Given the description of an element on the screen output the (x, y) to click on. 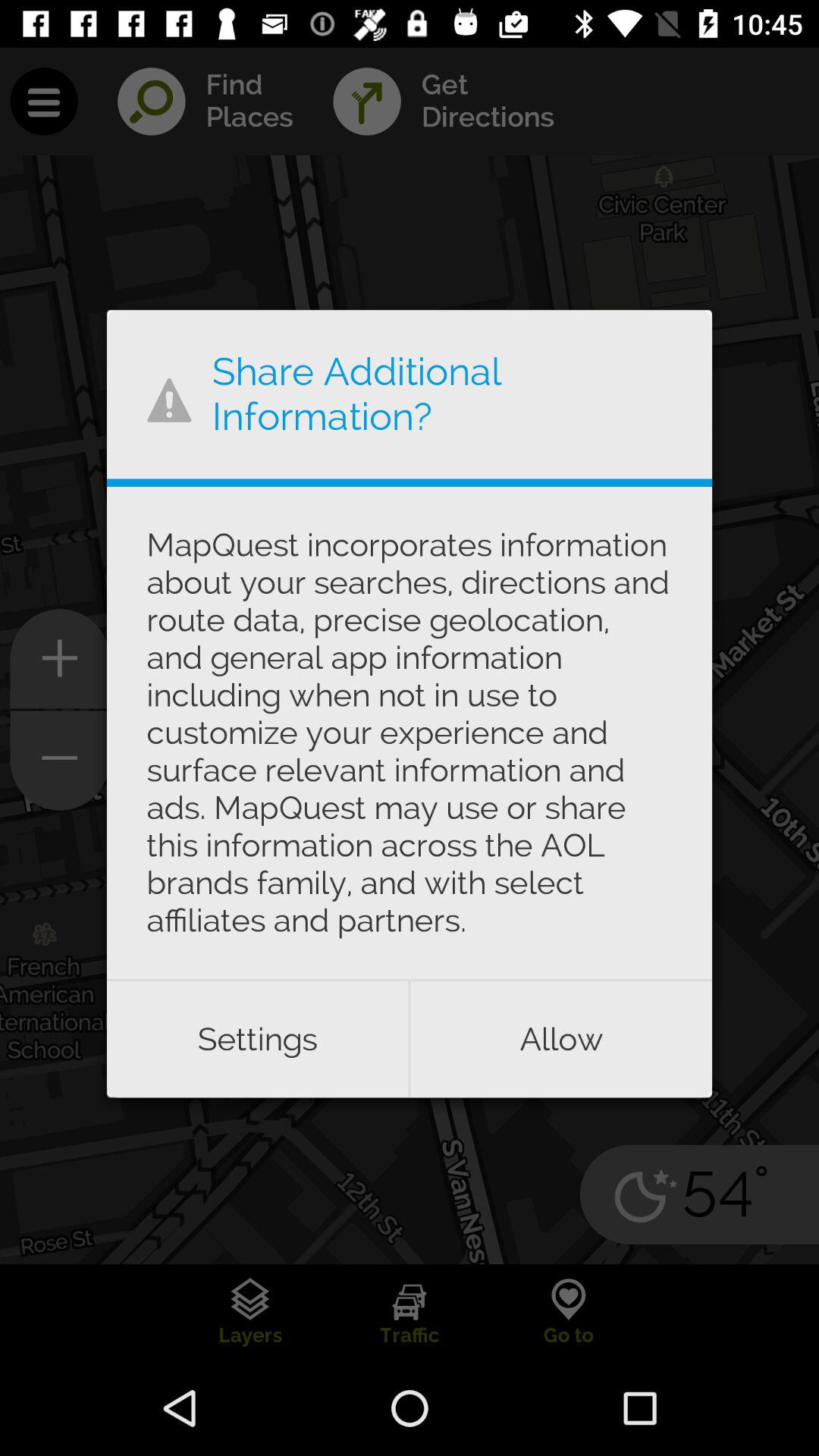
jump to the allow item (561, 1039)
